Given the description of an element on the screen output the (x, y) to click on. 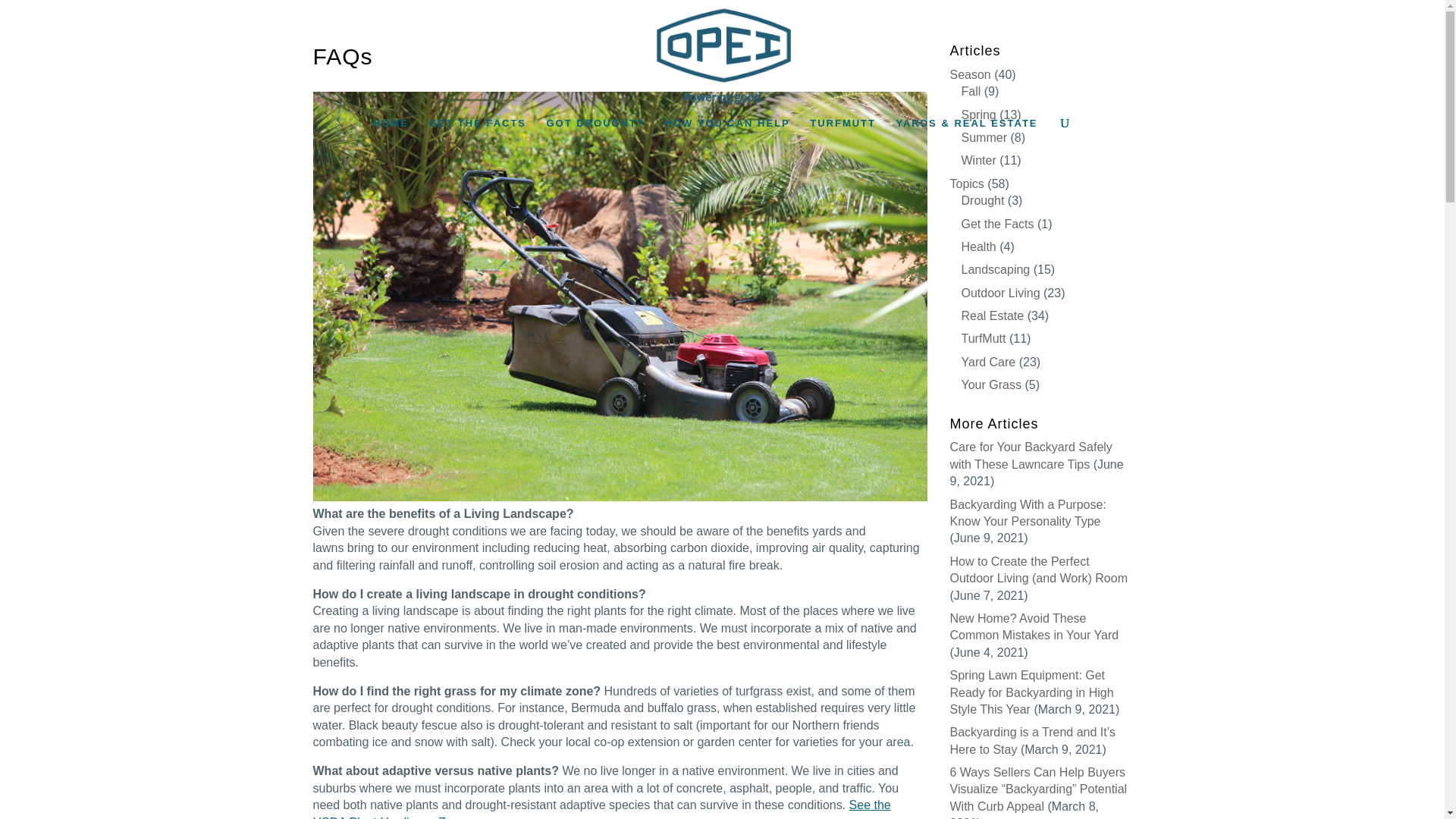
Health (977, 246)
New Home? Avoid These Common Mistakes in Your Yard (1033, 626)
Backyarding With a Purpose: Know Your Personality Type (1027, 512)
TurfMutt (983, 338)
Care for Your Backyard Safely with These Lawncare Tips (1030, 455)
Get the Facts (996, 223)
Winter (977, 160)
Summer (983, 137)
HOW YOU CAN HELP (726, 129)
